Given the description of an element on the screen output the (x, y) to click on. 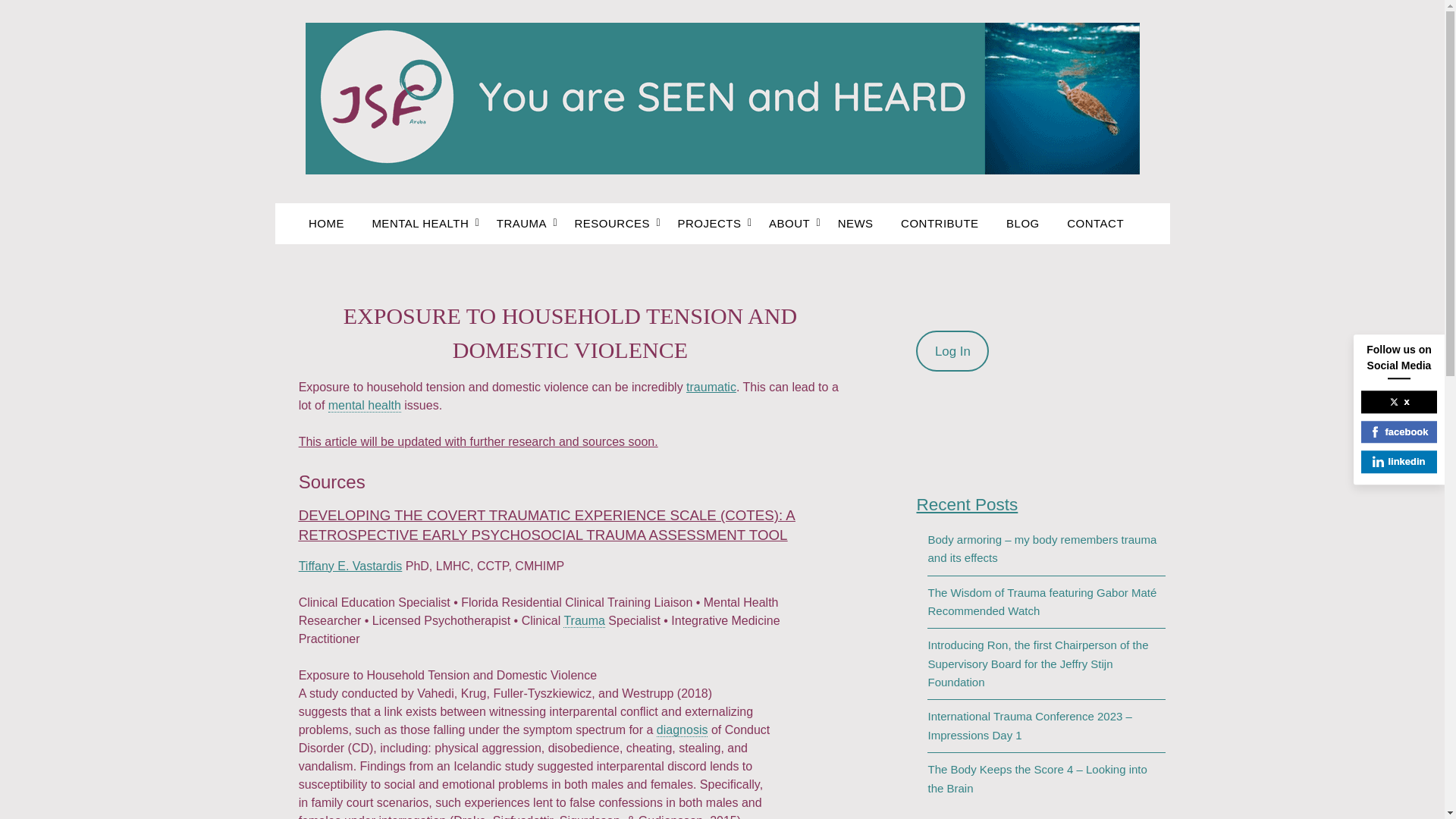
MENTAL HEALTH (419, 223)
HOME (332, 223)
TRAUMA (521, 223)
